Given the description of an element on the screen output the (x, y) to click on. 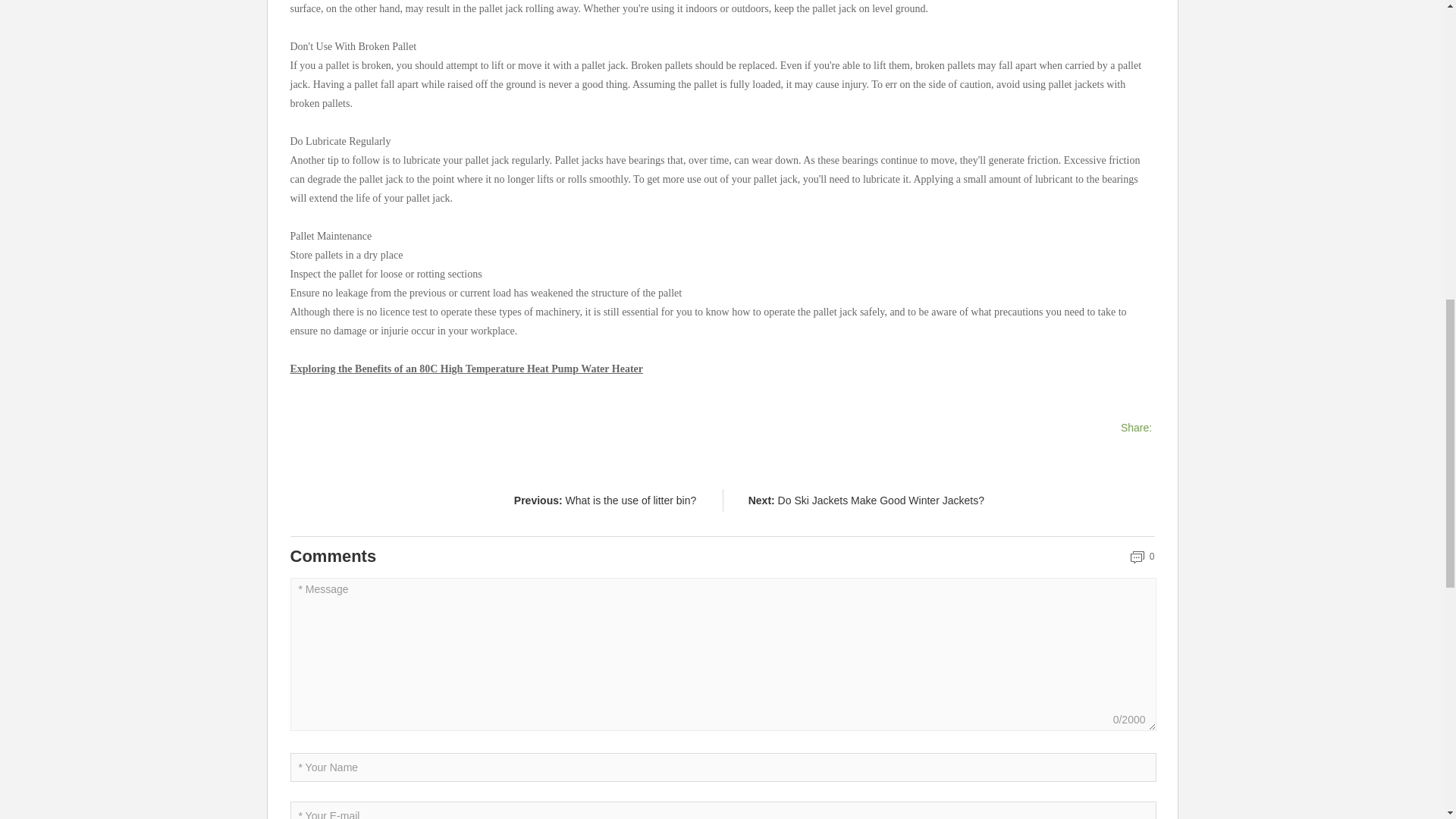
Do Ski Jackets Make Good Winter Jackets? (880, 500)
What is the use of litter bin? (631, 500)
